Given the description of an element on the screen output the (x, y) to click on. 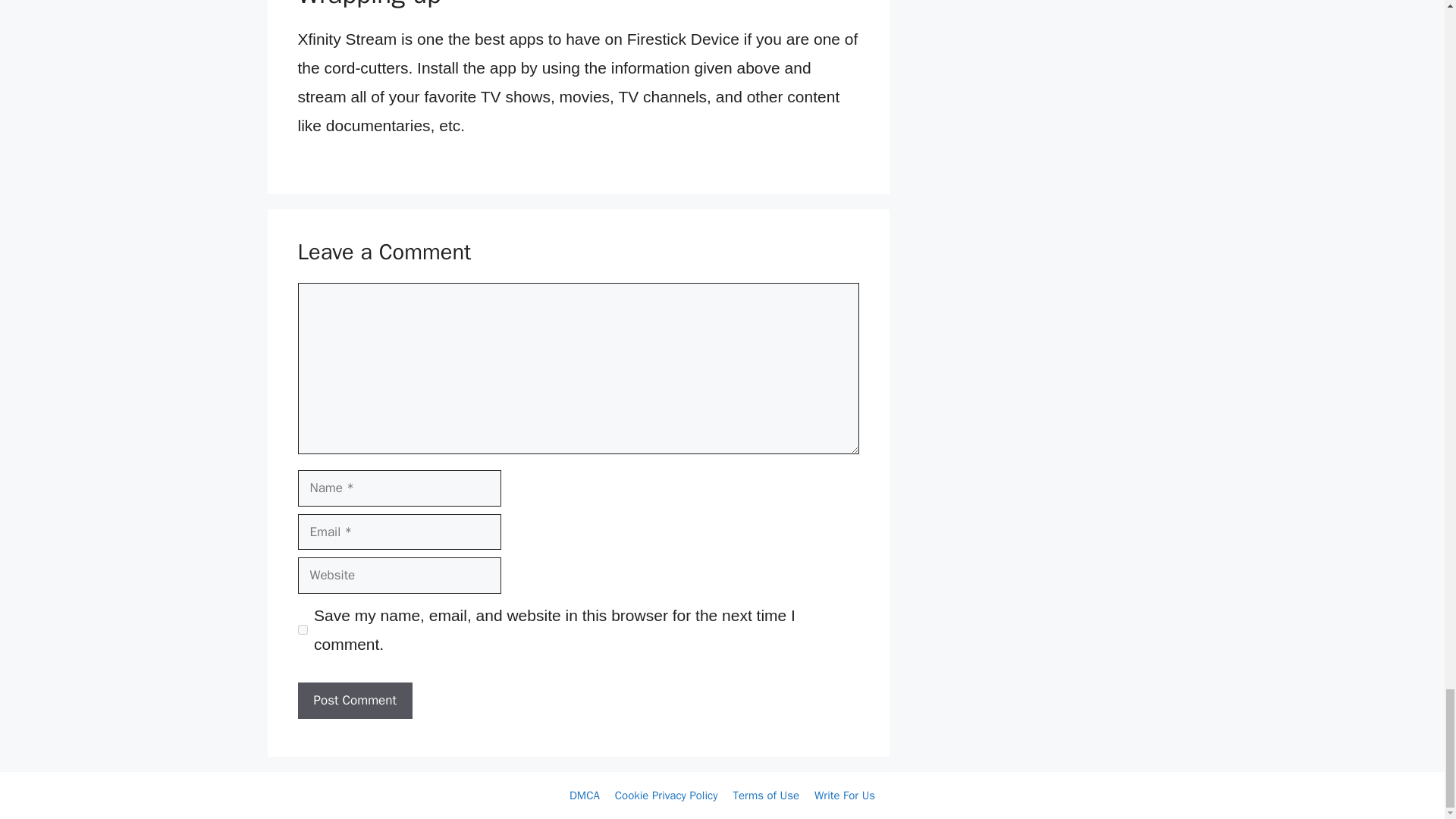
Terms of Use (766, 795)
yes (302, 629)
Cookie Privacy Policy (665, 795)
Write For Us (844, 795)
DMCA (584, 795)
Post Comment (354, 700)
Post Comment (354, 700)
